Given the description of an element on the screen output the (x, y) to click on. 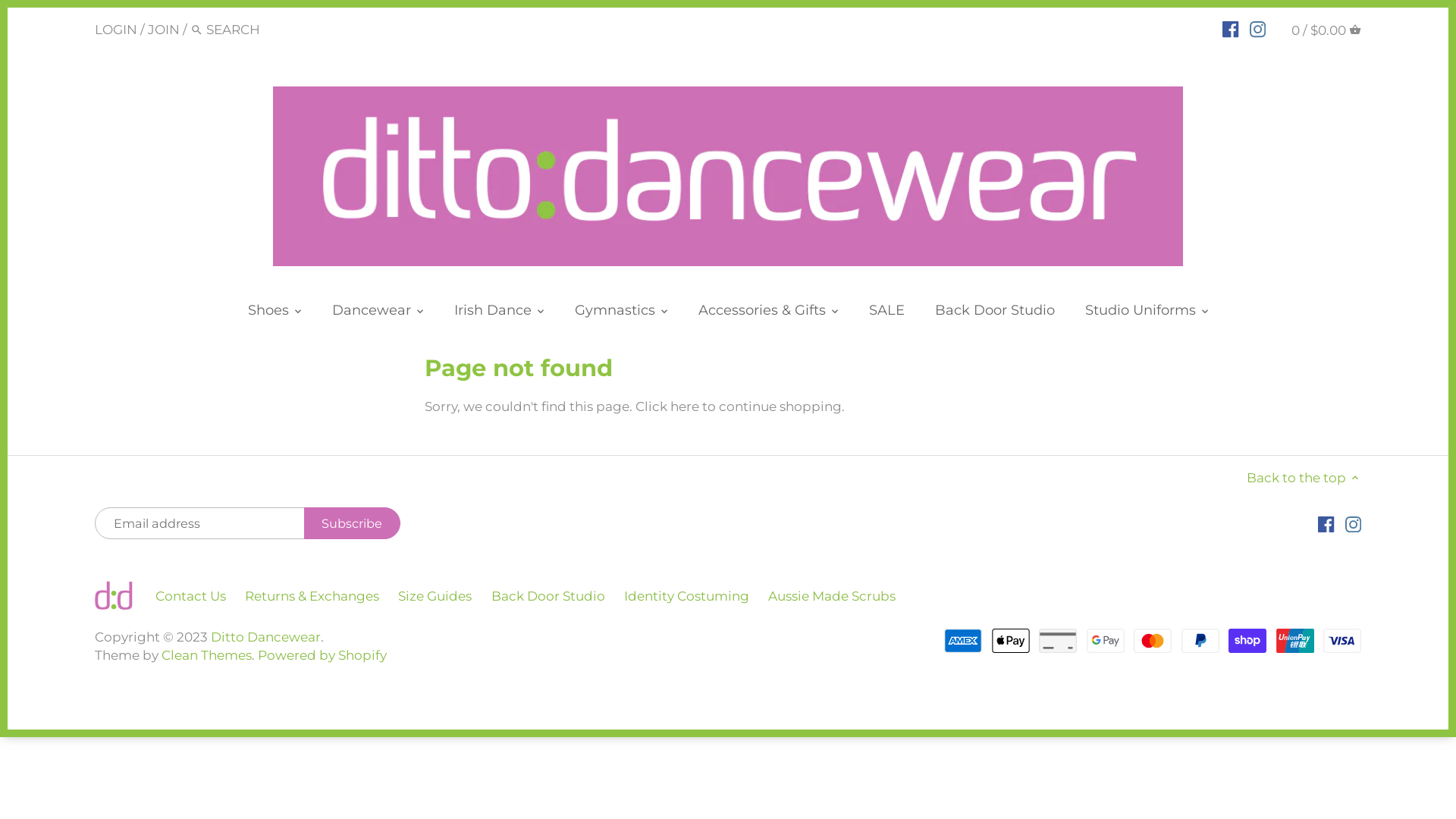
LOGIN Element type: text (115, 28)
Aussie Made Scrubs Element type: text (831, 595)
SALE Element type: text (886, 313)
Subscribe Element type: text (352, 523)
Facebook Element type: text (1325, 523)
FACEBOOK Element type: text (1230, 27)
Irish Dance Element type: text (491, 313)
Search Element type: text (196, 29)
Instagram Element type: text (1353, 523)
Shoes Element type: text (267, 313)
Returns & Exchanges Element type: text (311, 595)
Click here Element type: text (667, 406)
Powered by Shopify Element type: text (321, 654)
Contact Us Element type: text (190, 595)
Back Door Studio Element type: text (548, 595)
JOIN Element type: text (163, 28)
Back Door Studio Element type: text (993, 313)
Clean Themes Element type: text (206, 654)
Size Guides Element type: text (434, 595)
Ditto Dancewear Element type: text (265, 636)
0 / $0.00 CART Element type: text (1326, 28)
Identity Costuming Element type: text (686, 595)
Back to the top Element type: text (1303, 477)
Dancewear Element type: text (371, 313)
Gymnastics Element type: text (614, 313)
Studio Uniforms Element type: text (1139, 313)
Accessories & Gifts Element type: text (761, 313)
INSTAGRAM Element type: text (1257, 27)
